Given the description of an element on the screen output the (x, y) to click on. 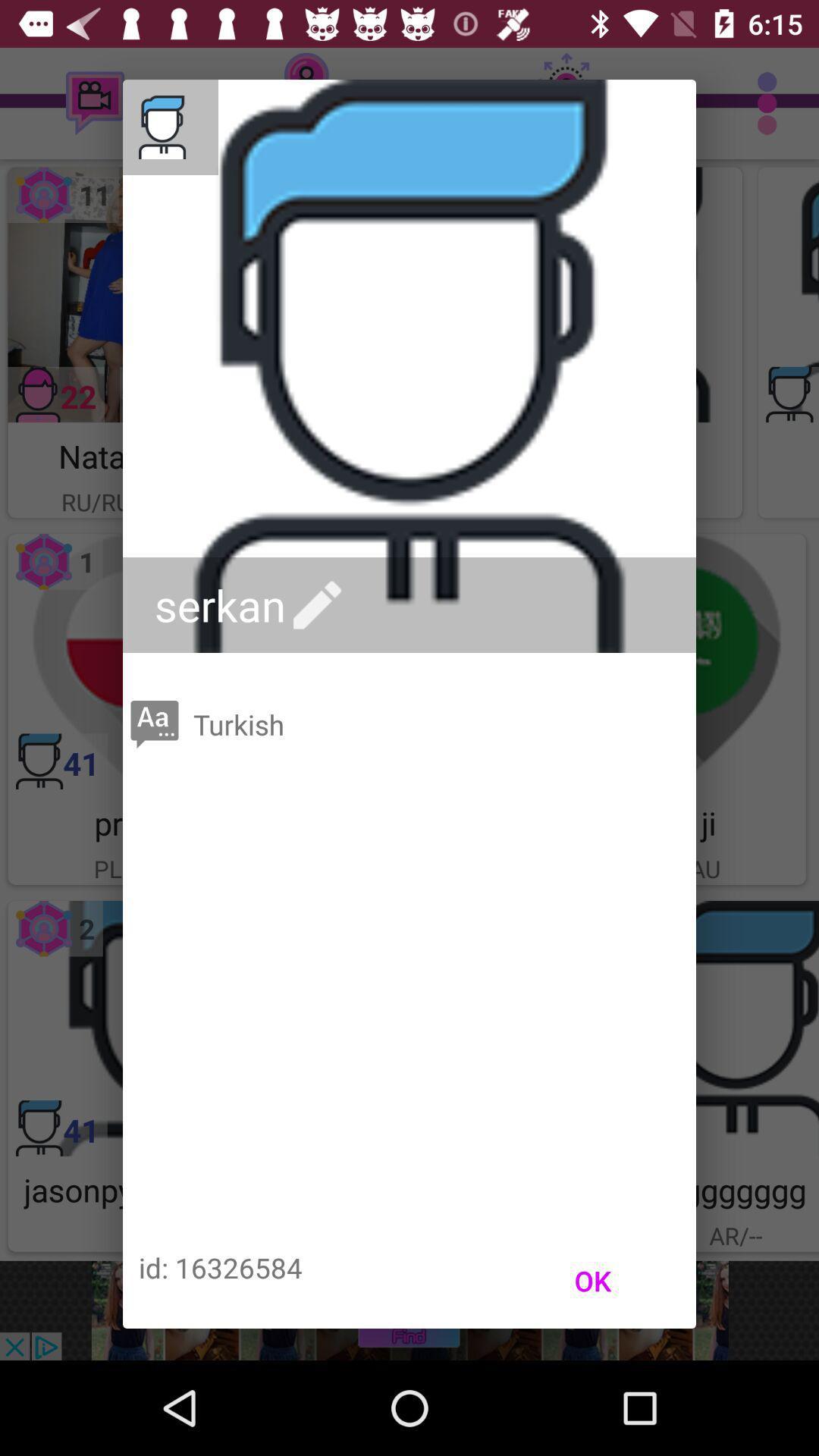
swipe to ok icon (592, 1280)
